Given the description of an element on the screen output the (x, y) to click on. 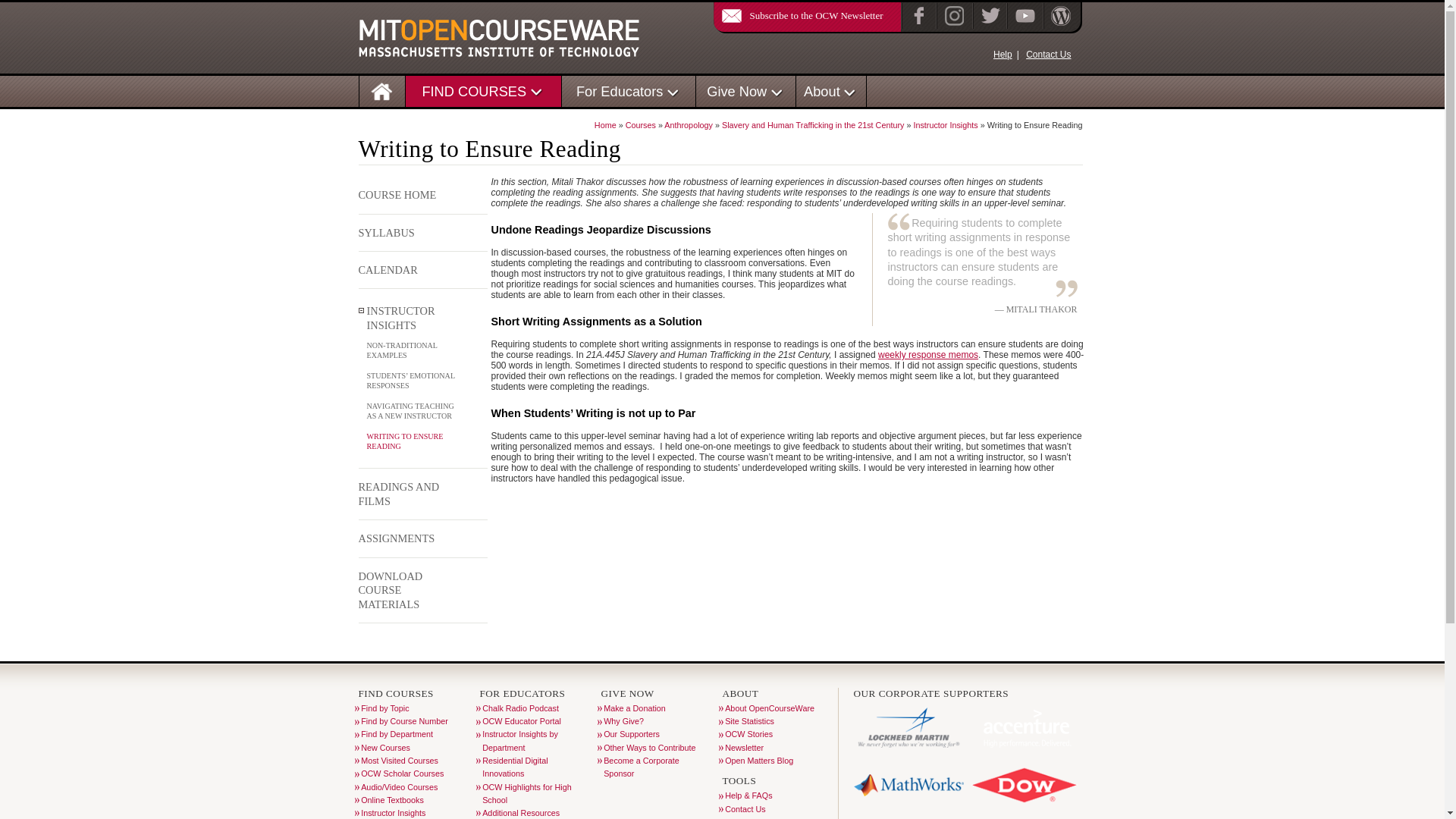
Give Now (736, 91)
Help (1001, 54)
Contact Us (1048, 54)
For Educators (619, 91)
Subscribe to the OCW Newsletter (797, 15)
FIND COURSES (473, 91)
